Given the description of an element on the screen output the (x, y) to click on. 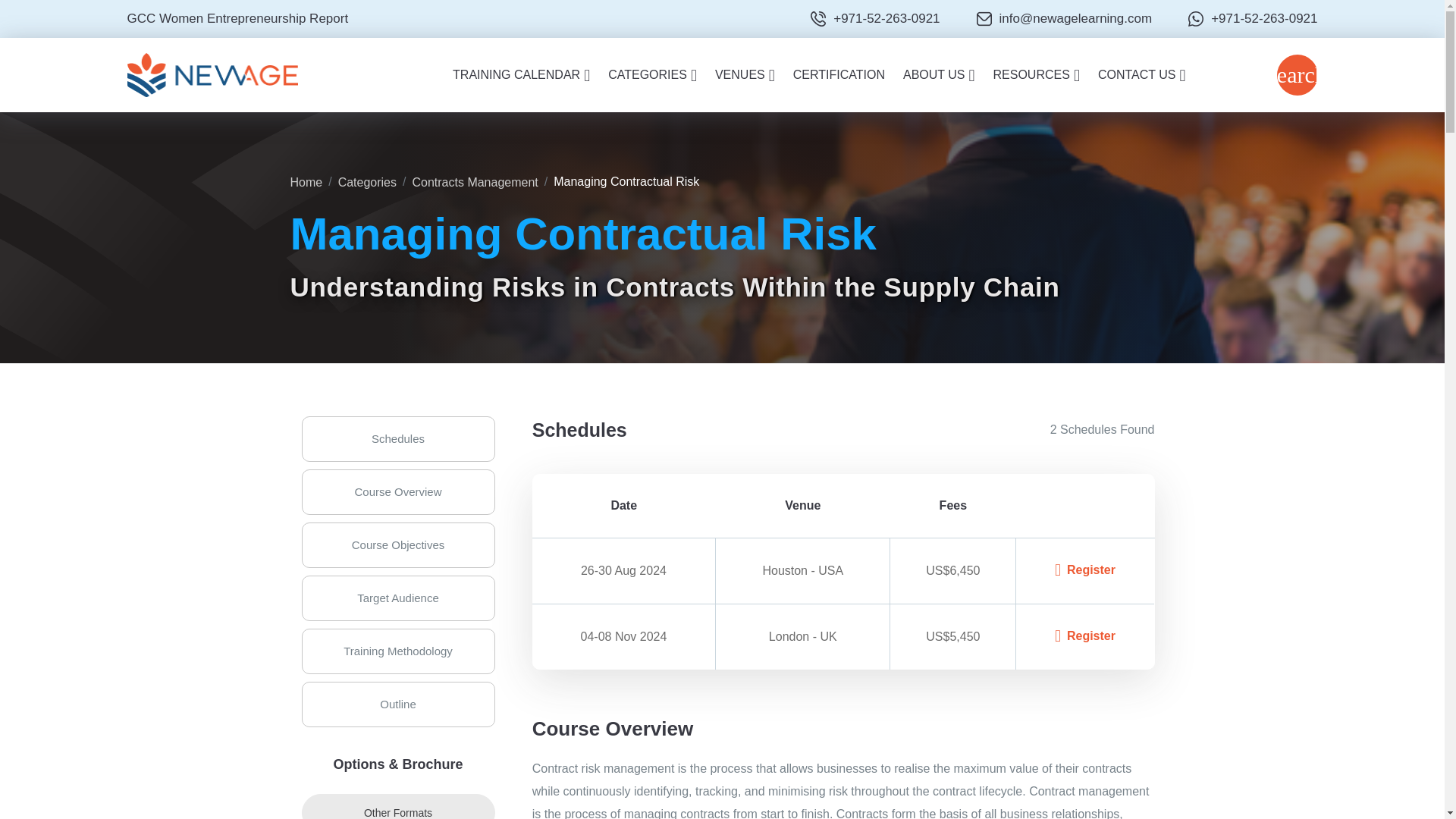
Outline (398, 704)
Course Objectives (398, 545)
Training Methodology (398, 651)
CATEGORIES (652, 74)
Course Overview (398, 492)
GCC Women Entrepreneurship Report (238, 18)
TRAINING CALENDAR (520, 74)
Target Audience (398, 597)
